Given the description of an element on the screen output the (x, y) to click on. 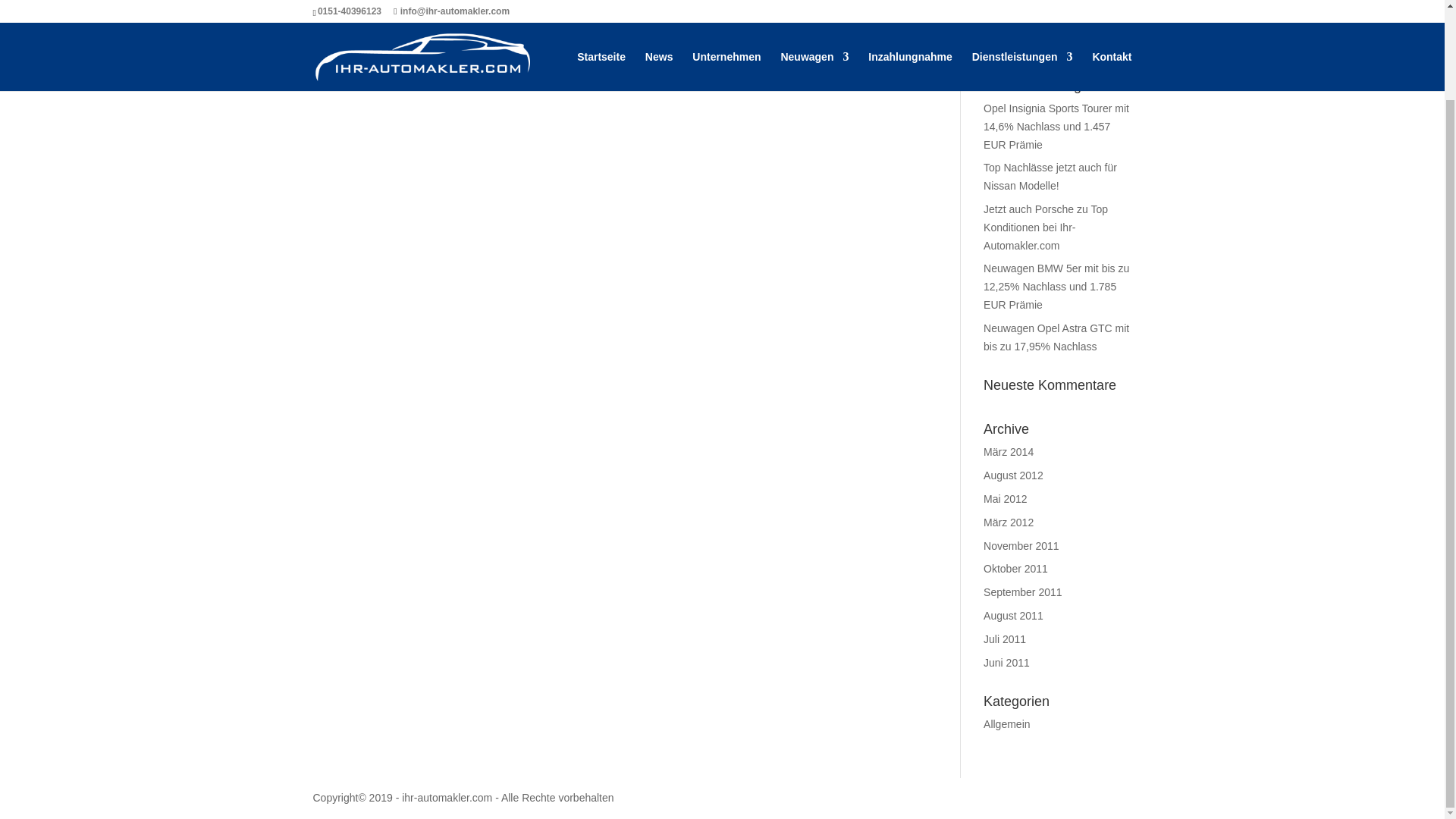
September 2011 (1023, 592)
August 2011 (1013, 615)
Juli 2011 (1005, 639)
Mai 2012 (1005, 499)
Jetzt auch Porsche zu Top Konditionen bei Ihr-Automakler.com (1046, 227)
Oktober 2011 (1016, 568)
Juni 2011 (1006, 662)
Allgemein (1006, 724)
August 2012 (1013, 475)
Suche (1107, 40)
November 2011 (1021, 545)
Suche (1107, 40)
